Given the description of an element on the screen output the (x, y) to click on. 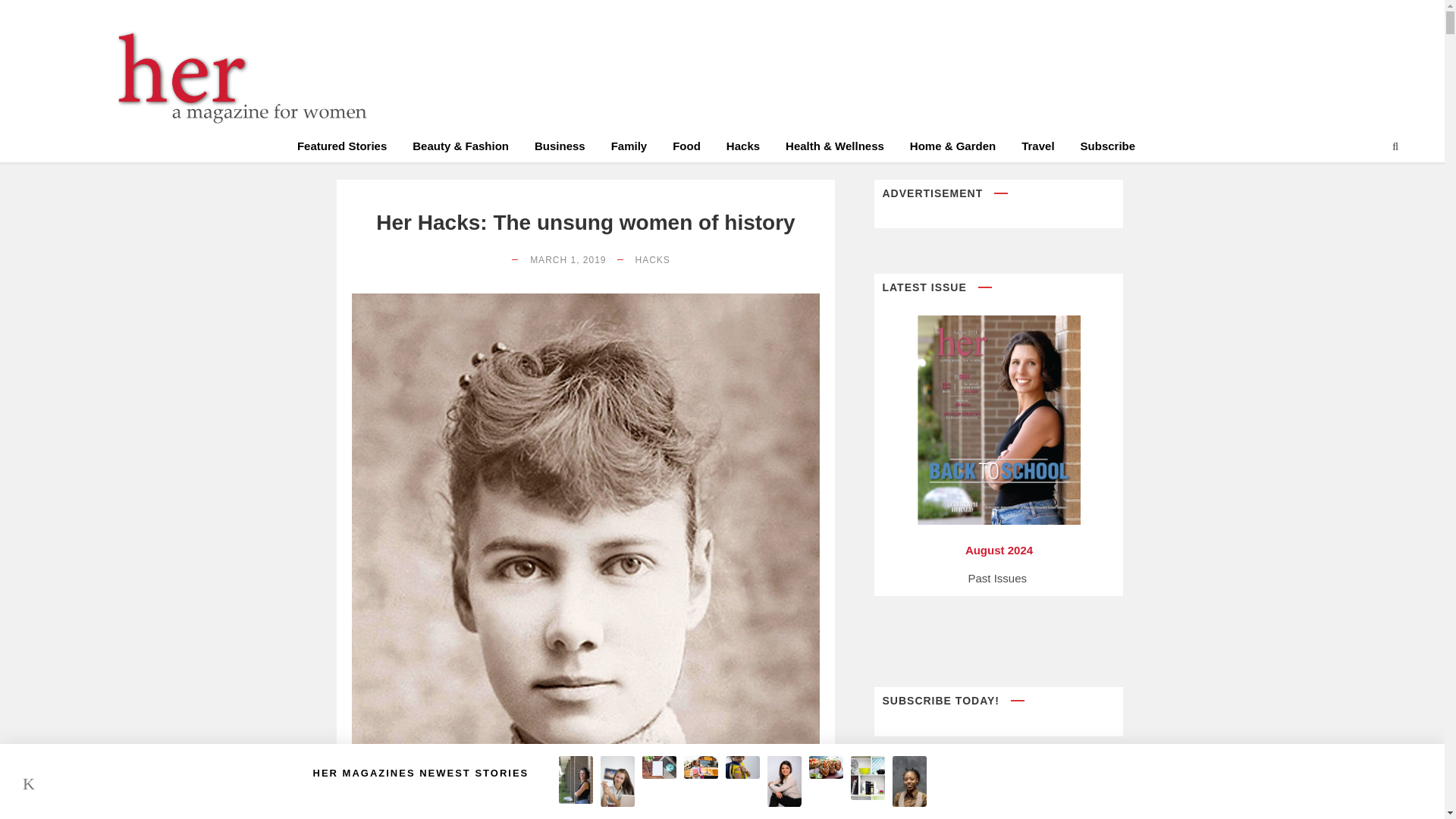
Business (559, 149)
Hacks (743, 149)
Food (686, 149)
MARCH 1, 2019 (567, 259)
Travel (1038, 149)
Family (629, 149)
Featured Stories (342, 149)
her-logo (235, 77)
HACKS (651, 259)
Subscribe (1107, 149)
